Given the description of an element on the screen output the (x, y) to click on. 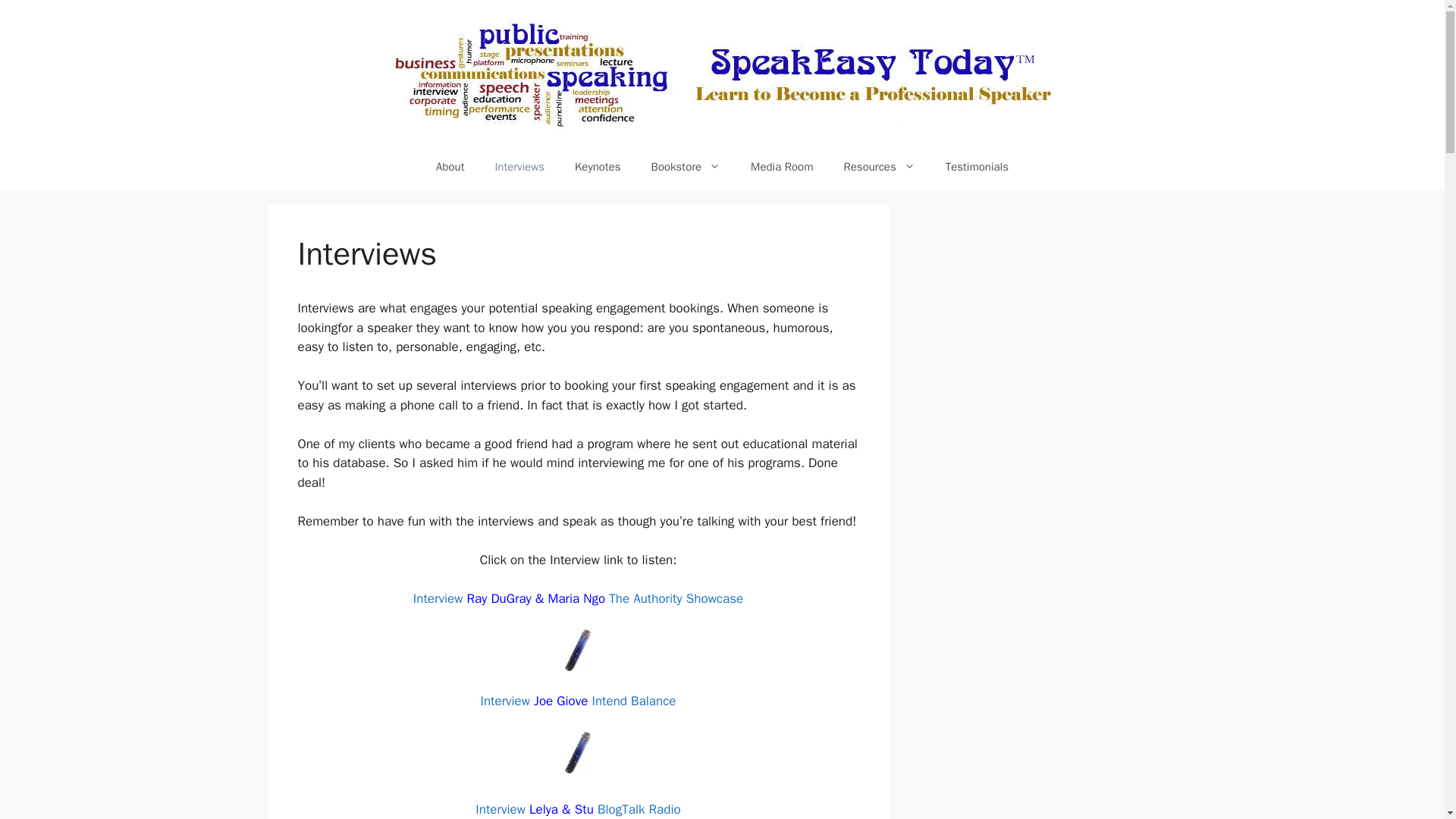
Intend Balance (634, 700)
Keynotes (597, 166)
BlogTalk Radio (638, 809)
Bookstore (686, 166)
The Authority Showcase (675, 598)
About (449, 166)
Interview (438, 598)
Interview (504, 700)
Testimonials (976, 166)
Interviews (519, 166)
